Given the description of an element on the screen output the (x, y) to click on. 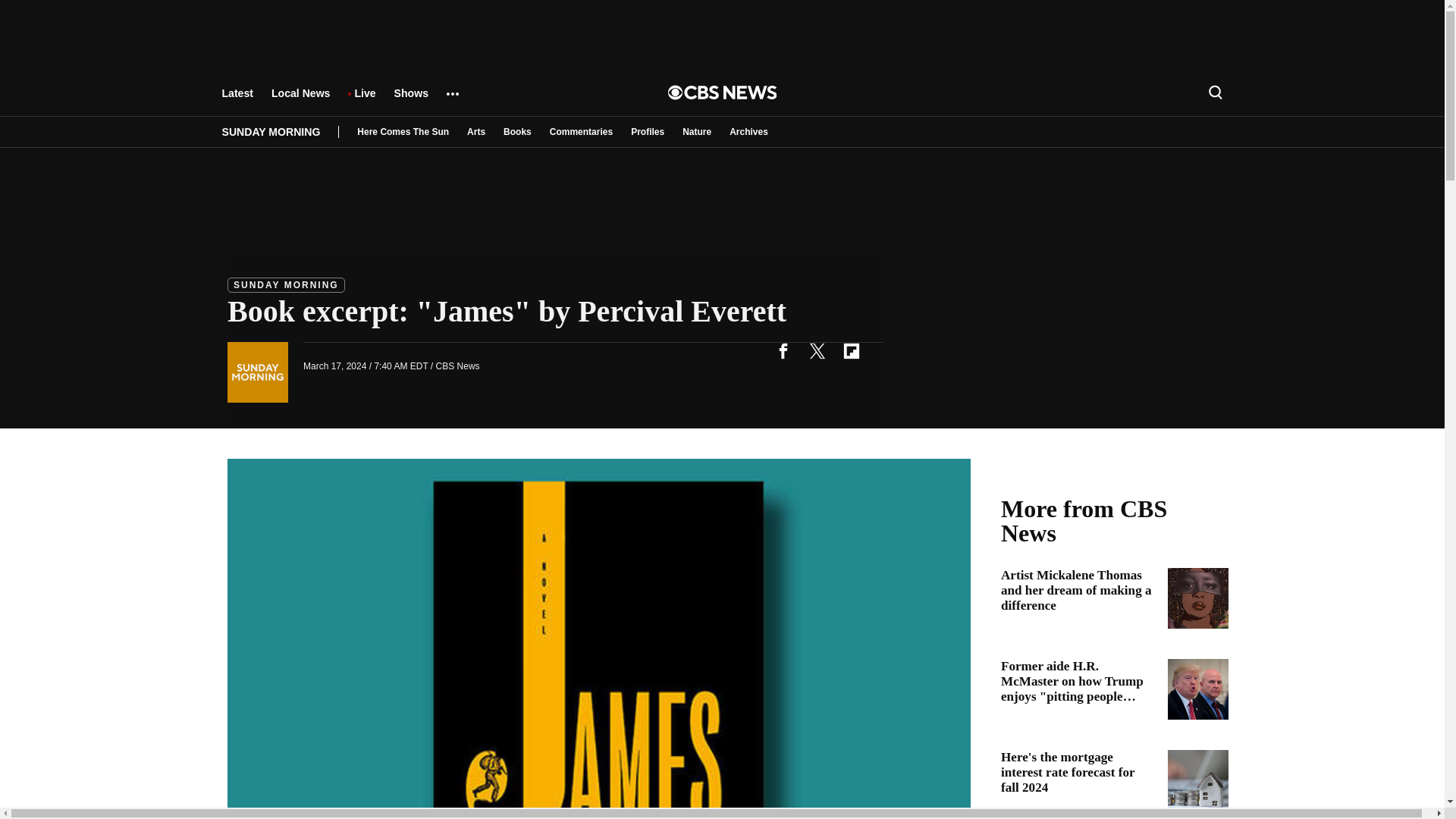
flipboard (850, 350)
twitter (816, 350)
Latest (236, 100)
Local News (300, 100)
facebook (782, 350)
